Given the description of an element on the screen output the (x, y) to click on. 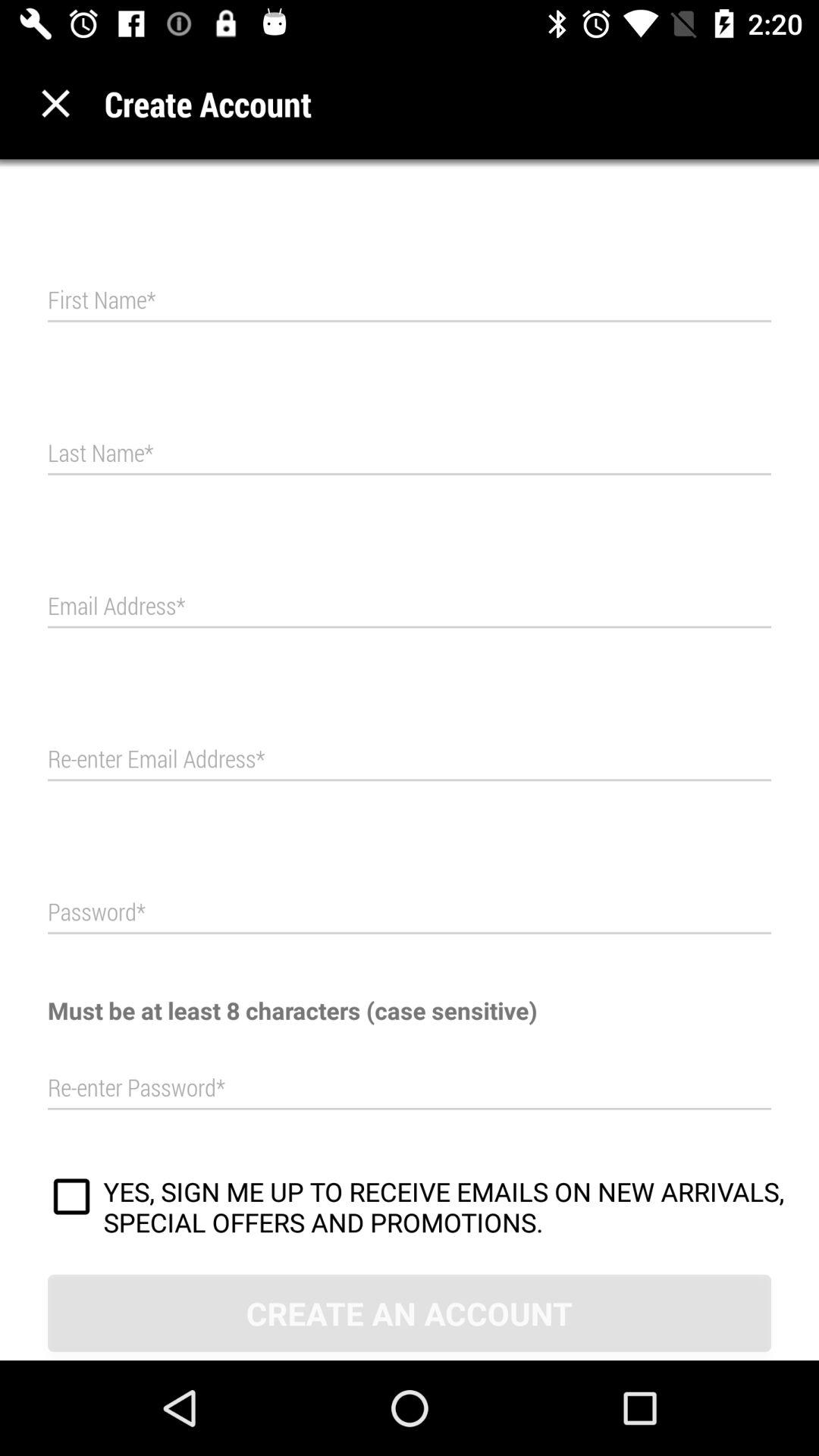
sign up (71, 1198)
